Given the description of an element on the screen output the (x, y) to click on. 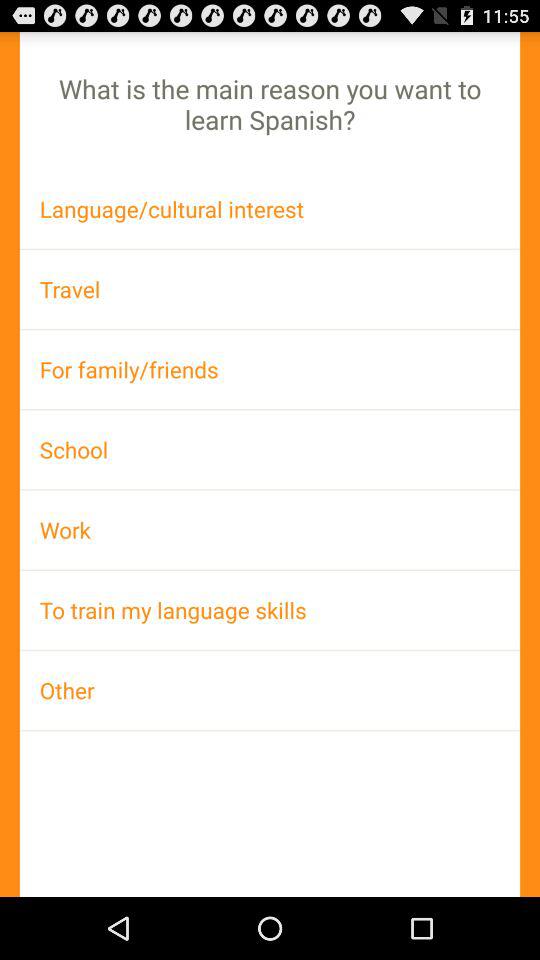
swipe to the work app (269, 529)
